Given the description of an element on the screen output the (x, y) to click on. 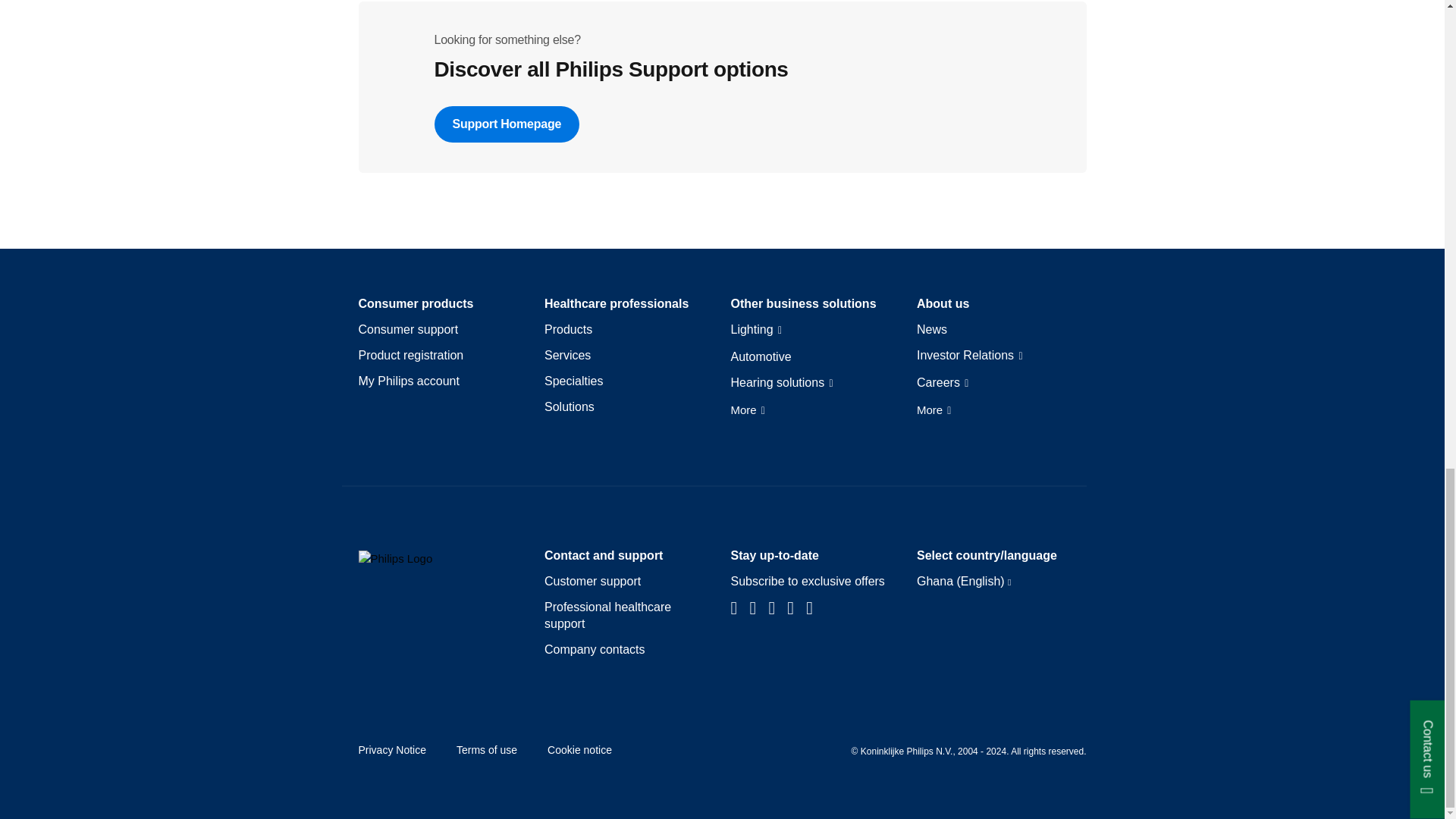
Consumer support  (408, 329)
Solutions (569, 406)
Automotive (761, 356)
Products (568, 329)
Specialties (573, 381)
News (932, 329)
Services (567, 355)
About us (943, 303)
Consumer products (415, 303)
Healthcare professionals (616, 303)
